Given the description of an element on the screen output the (x, y) to click on. 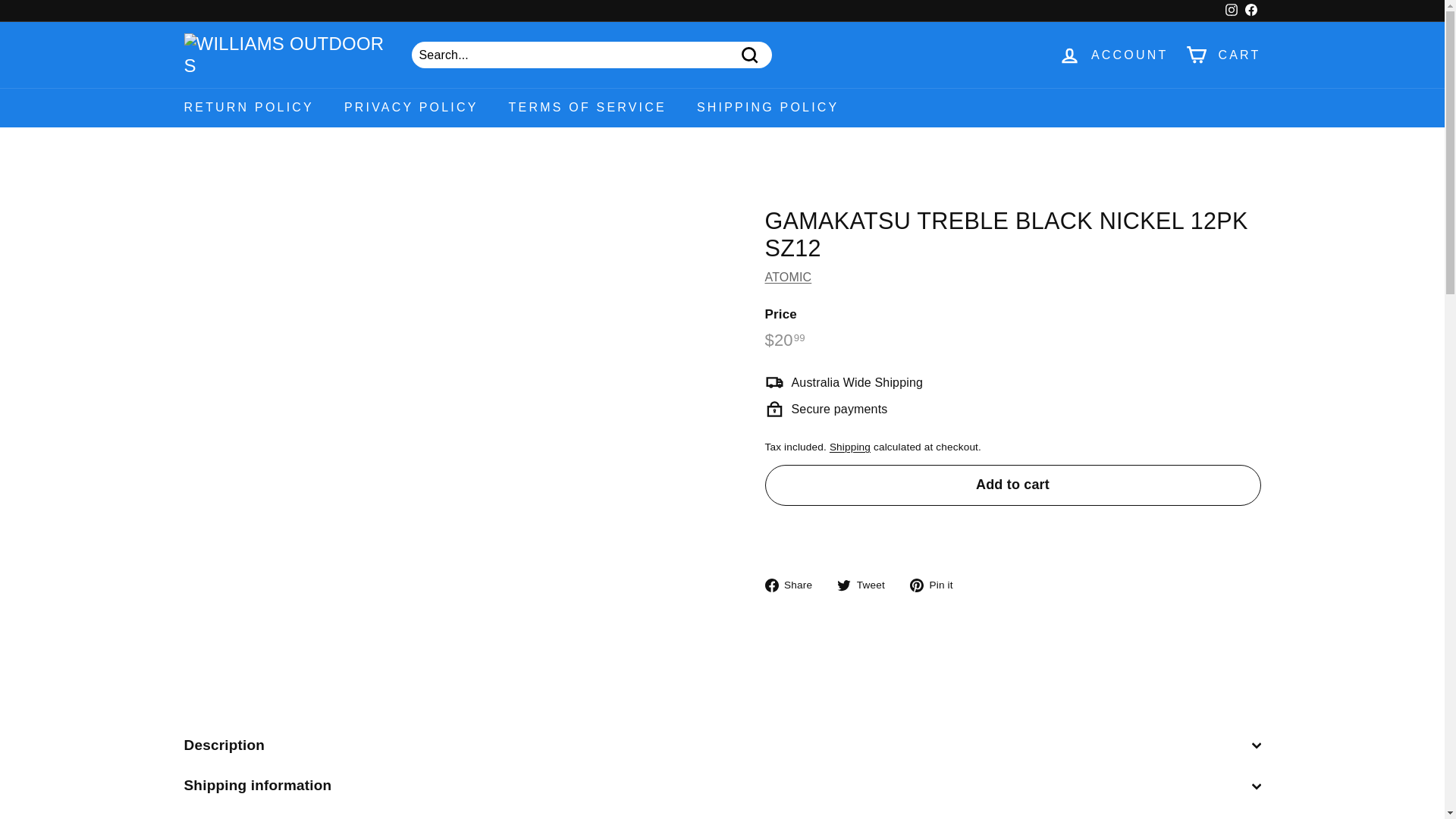
SHIPPING POLICY (767, 106)
Add to cart (1012, 485)
ATOMIC (787, 277)
Williams Outdoors on Facebook (1250, 10)
ACCOUNT (1113, 54)
PRIVACY POLICY (411, 106)
RETURN POLICY (248, 106)
Shipping (849, 446)
Instagram (1230, 10)
